Given the description of an element on the screen output the (x, y) to click on. 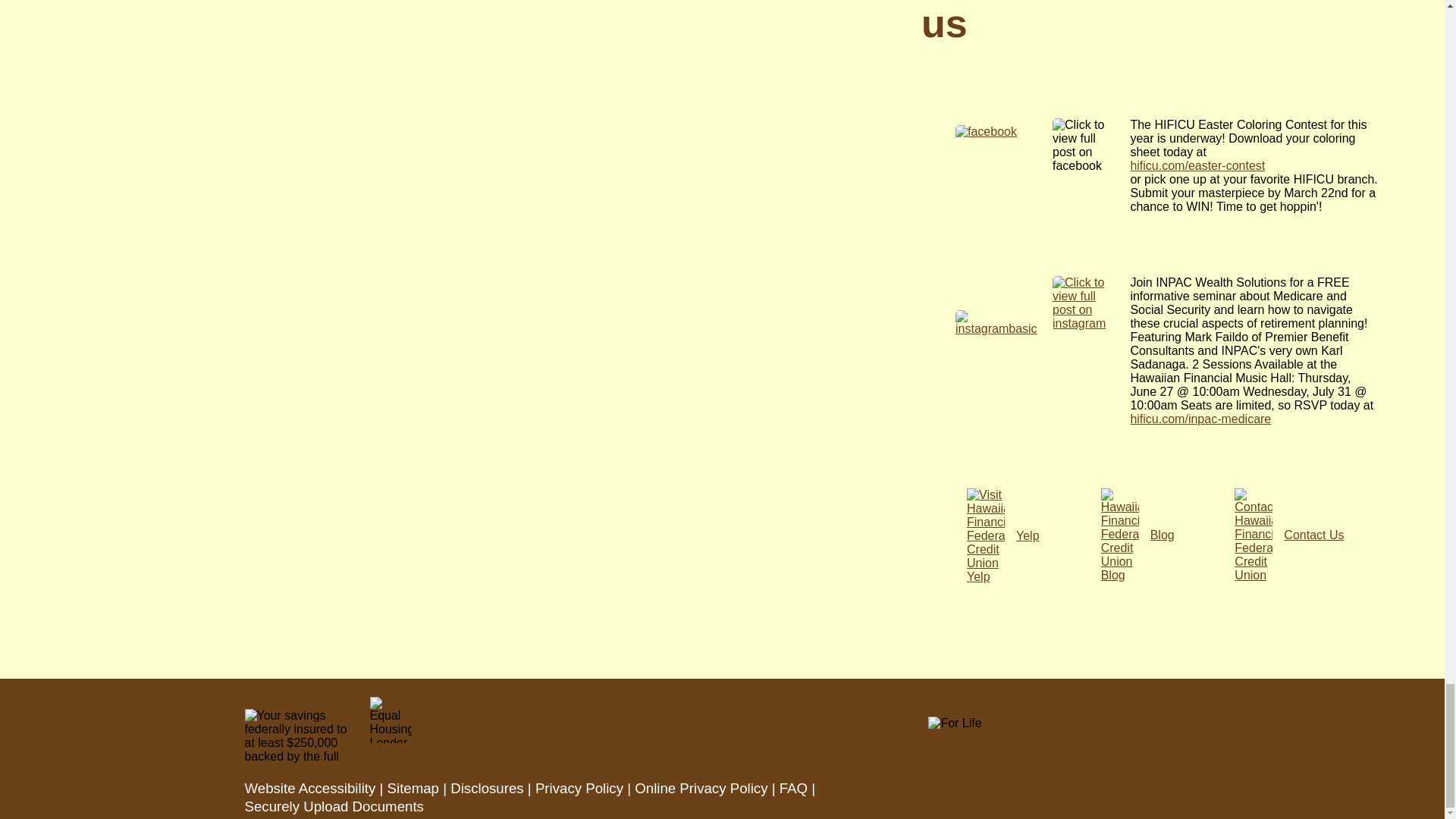
NCUA Logo (298, 736)
Equal Housing Lender Logo (390, 719)
Tagline (954, 723)
